Given the description of an element on the screen output the (x, y) to click on. 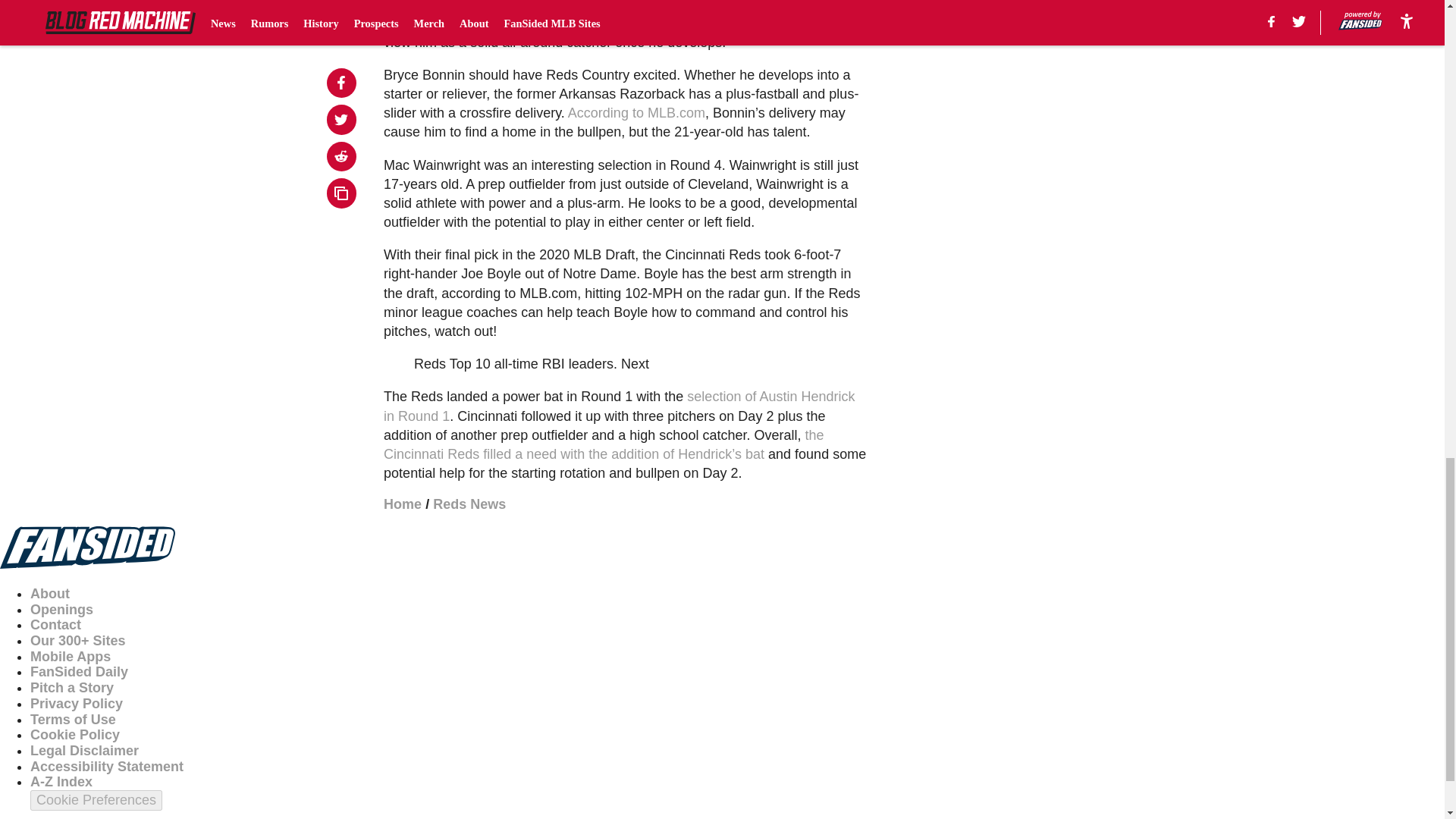
Openings (61, 609)
Reds News (468, 503)
About (49, 593)
FanSided Daily (79, 671)
selection of Austin Hendrick in Round 1 (619, 406)
According to MLB.com (635, 112)
Mobile Apps (70, 656)
Home (403, 503)
Contact (55, 624)
